Given the description of an element on the screen output the (x, y) to click on. 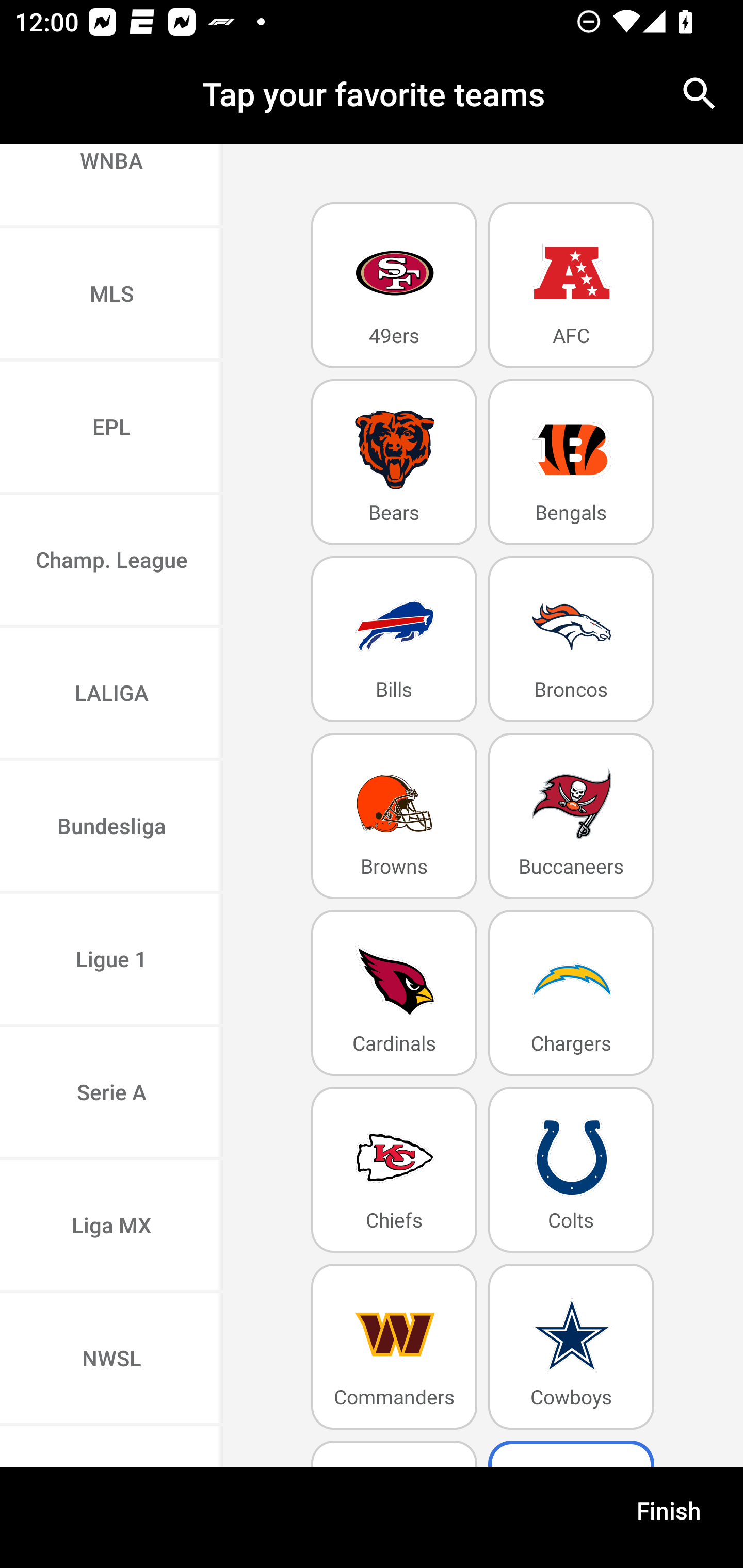
search (699, 93)
WNBA (111, 186)
49ers (394, 285)
AFC (571, 285)
MLS (111, 295)
EPL (111, 428)
Bears (394, 462)
Bengals (571, 462)
Champ. League (111, 560)
Bills (394, 639)
Broncos (571, 639)
LALIGA (111, 694)
Browns (394, 815)
Buccaneers (571, 815)
Bundesliga (111, 826)
Ligue 1 (111, 960)
Cardinals (394, 992)
Chargers (571, 992)
Serie A (111, 1093)
Chiefs (394, 1169)
Colts (571, 1169)
Liga MX (111, 1226)
Commanders (394, 1346)
Cowboys (571, 1346)
NWSL (111, 1359)
Finish Finish and Close (669, 1517)
